Given the description of an element on the screen output the (x, y) to click on. 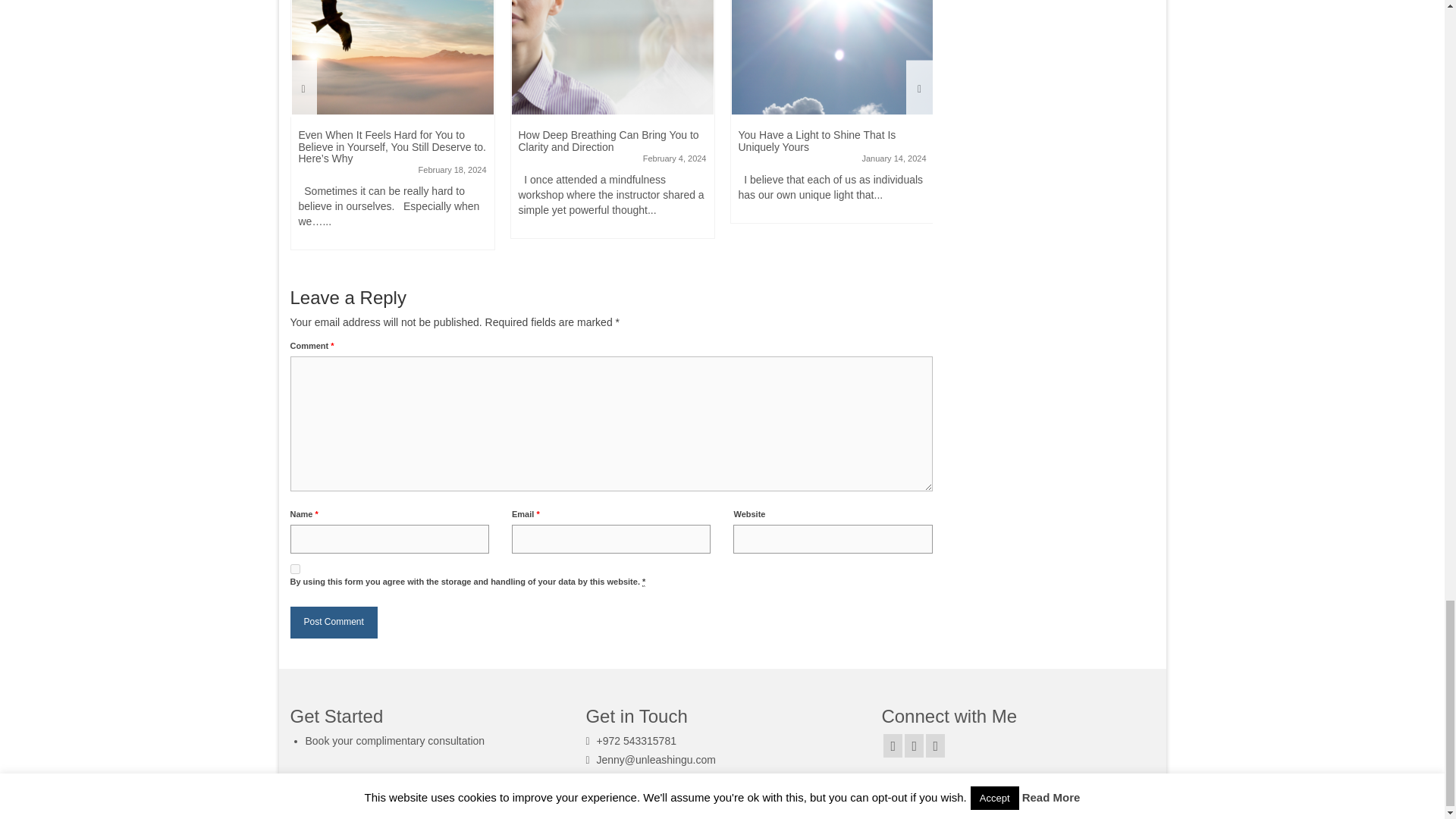
How Deep Breathing Can Bring You to Clarity and Direction (612, 57)
1 (294, 569)
You Have a Light to Shine That Is Uniquely Yours (832, 57)
Post Comment (333, 622)
